Given the description of an element on the screen output the (x, y) to click on. 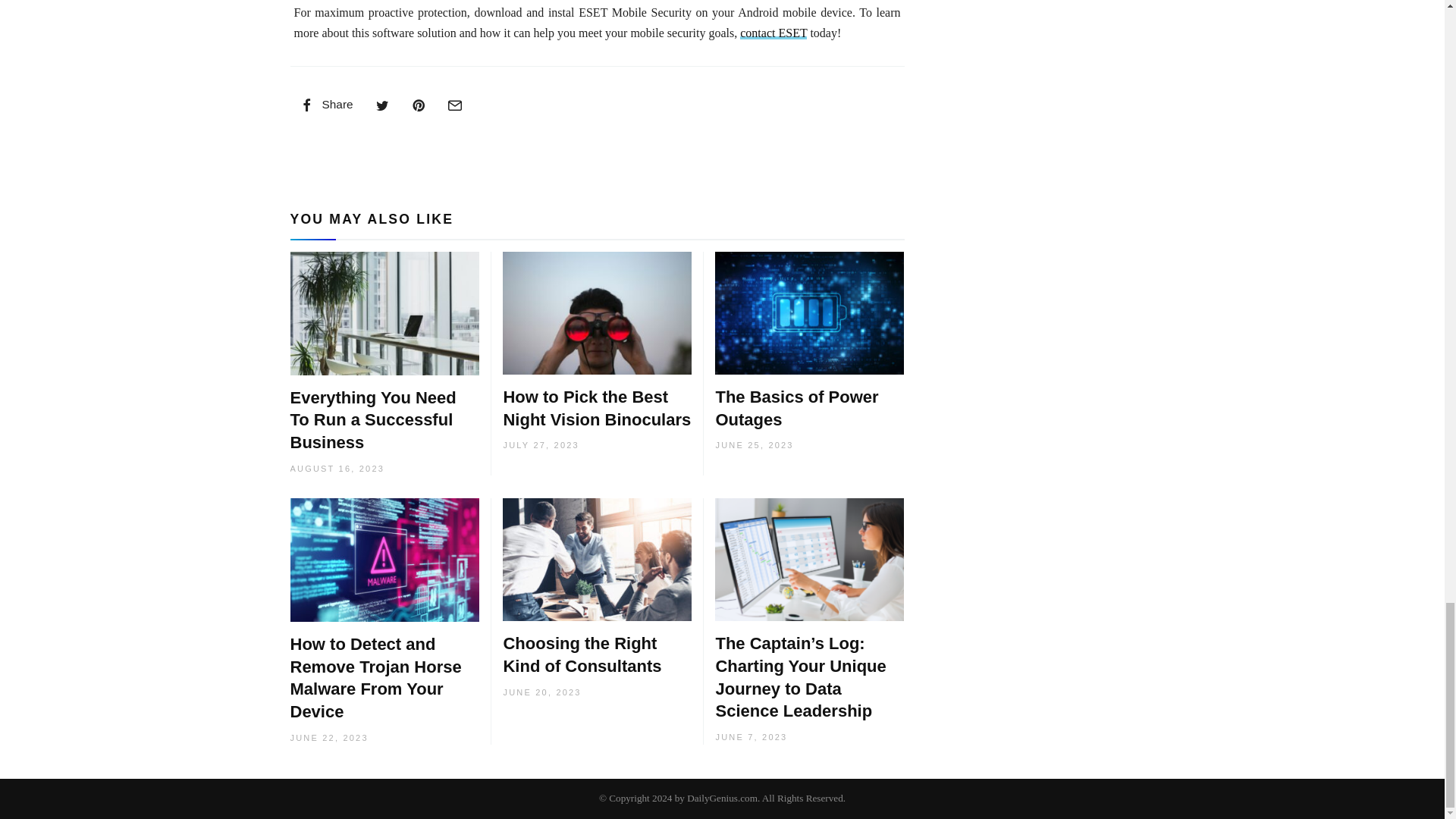
contact ESET (772, 32)
Share via Email (454, 104)
Share on Twitter (381, 104)
Pin this Post (418, 104)
DailyGenius.com -  (722, 797)
Share (324, 104)
Share on Facebook (324, 104)
